Given the description of an element on the screen output the (x, y) to click on. 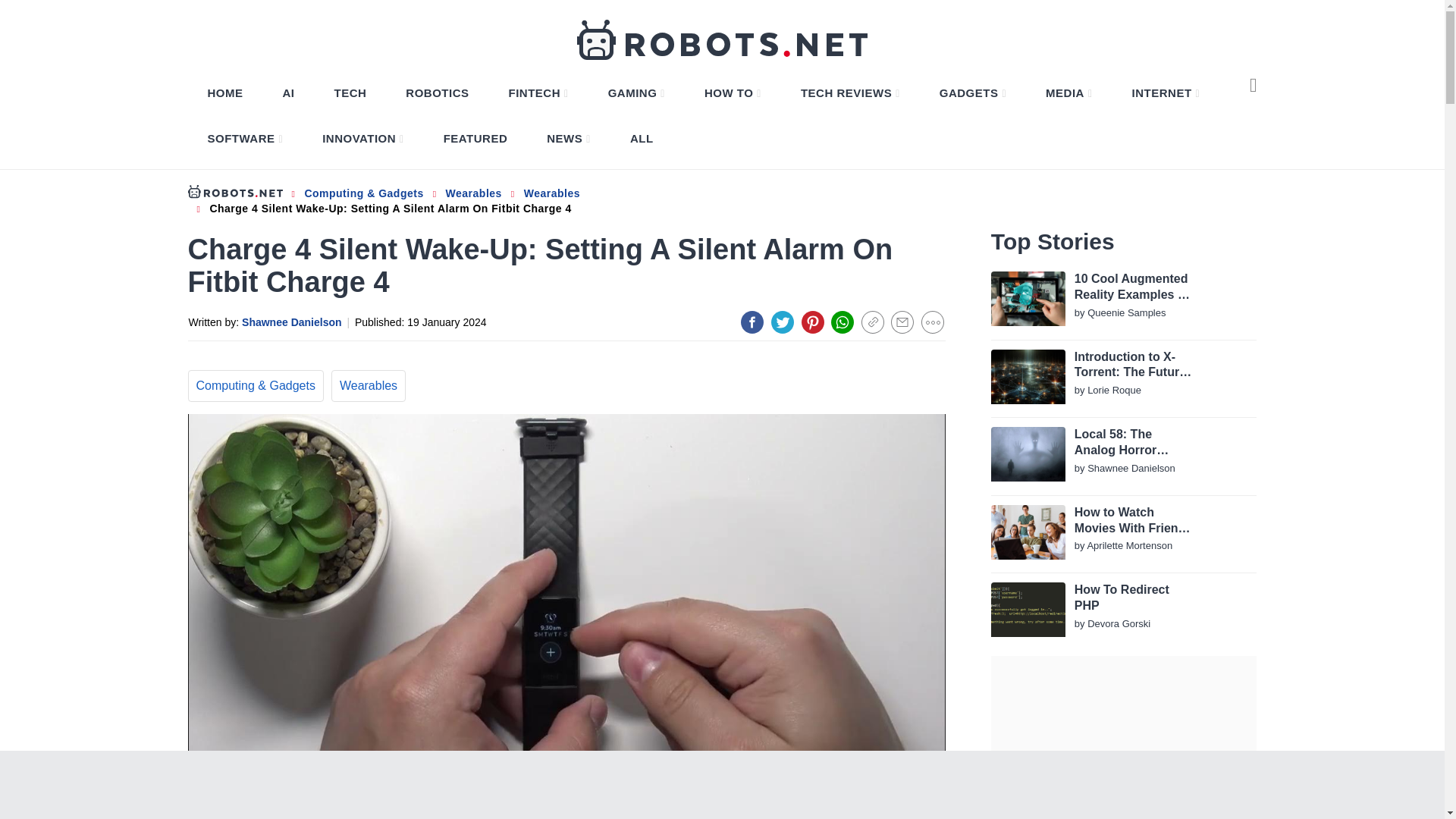
Share on twitter (782, 322)
TECH (350, 93)
Copy to Clipboard (872, 322)
FINTECH (538, 93)
View Less (932, 322)
GADGETS (972, 93)
Share on facebook (751, 322)
MEDIA (1068, 93)
Share on Whatsapp (842, 322)
HOW TO (732, 93)
HOME (225, 93)
Mail the Link (902, 322)
GAMING (635, 93)
TECH REVIEWS (850, 93)
Share on Pinterest (813, 322)
